Given the description of an element on the screen output the (x, y) to click on. 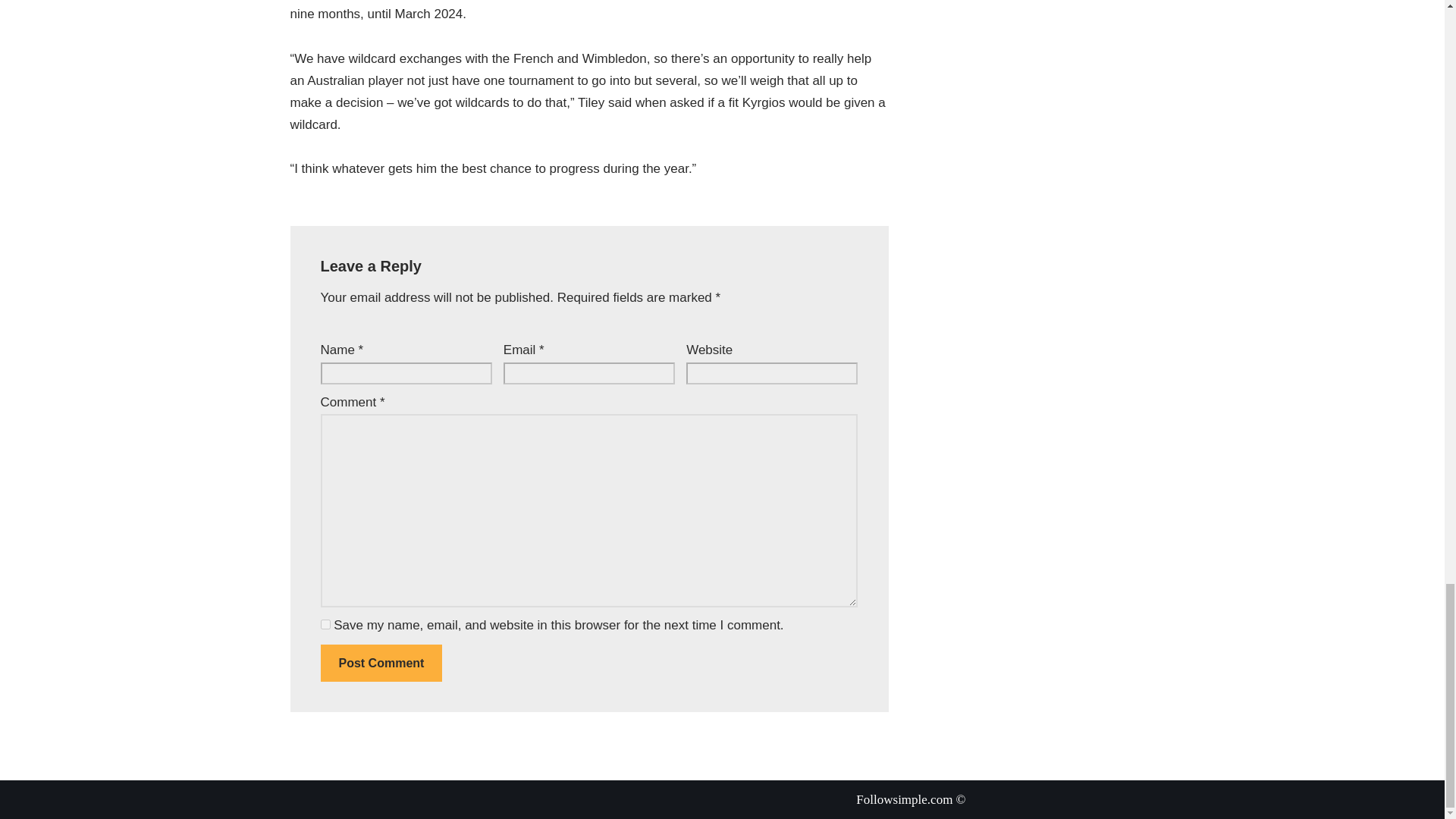
Post Comment (381, 663)
Post Comment (381, 663)
yes (325, 624)
